Given the description of an element on the screen output the (x, y) to click on. 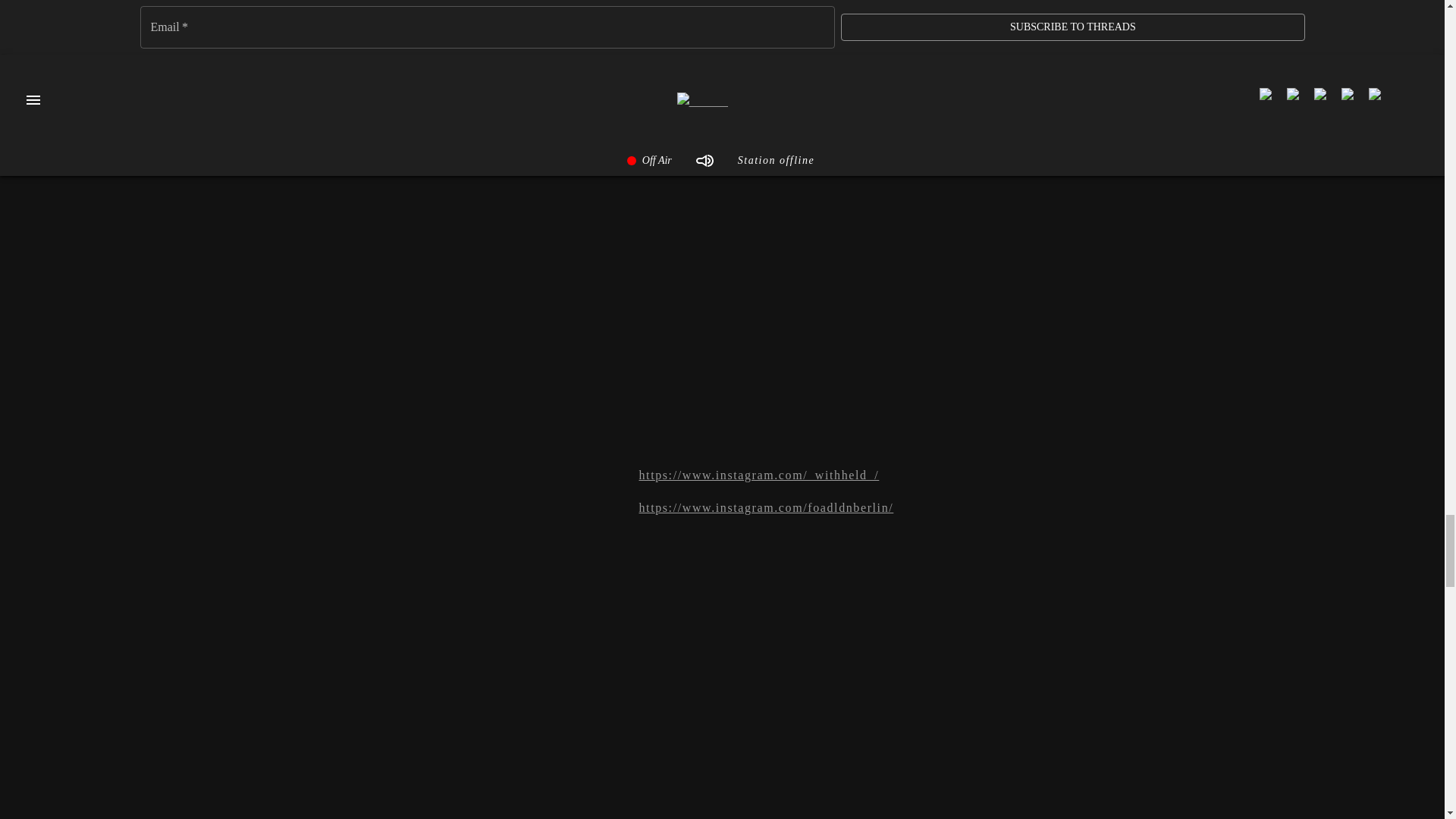
FridaY (929, 28)
